Given the description of an element on the screen output the (x, y) to click on. 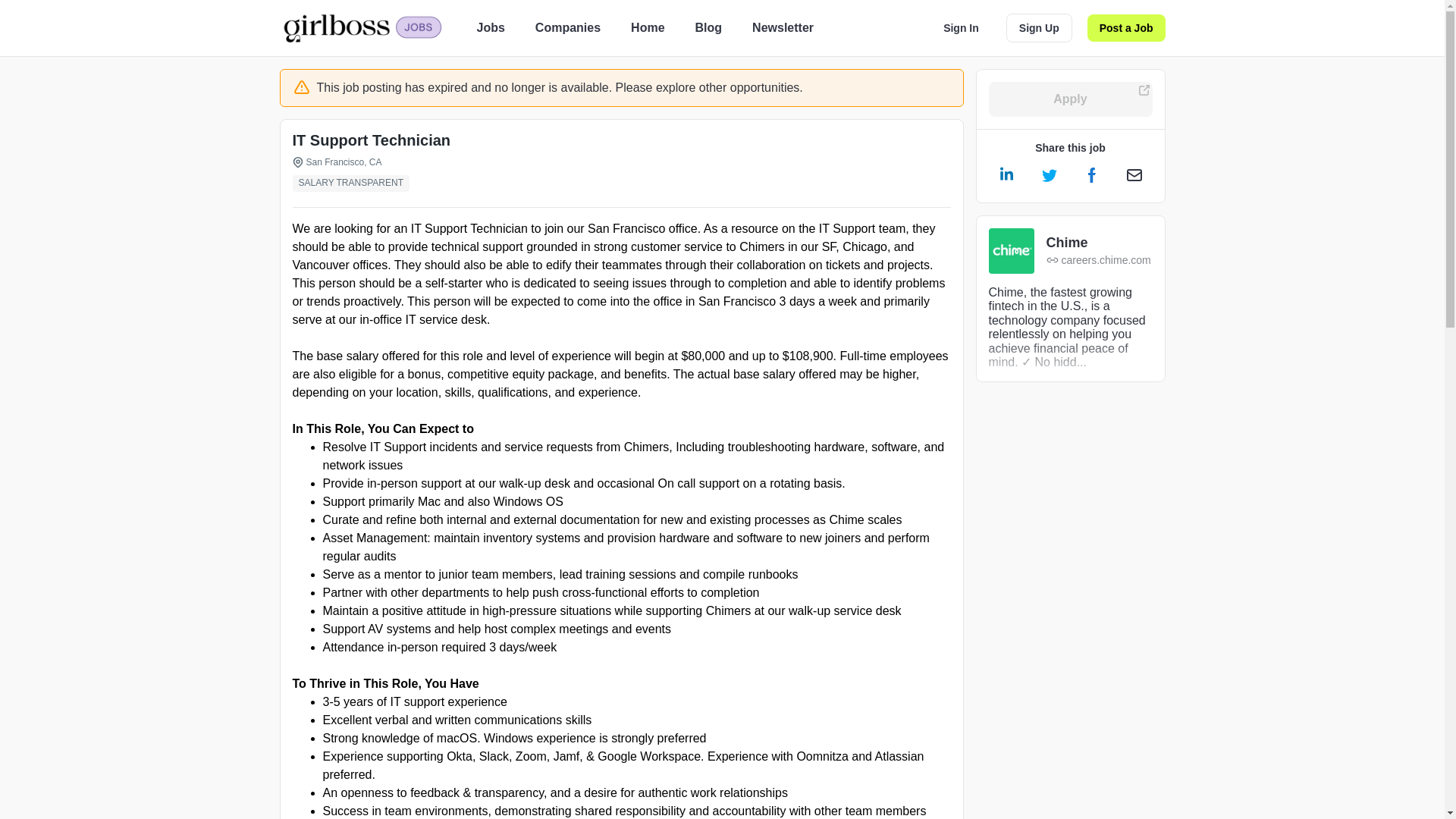
Jobs (489, 27)
careers.chime.com (1098, 259)
Companies (567, 27)
Sign Up (1038, 27)
Sign In (961, 27)
Chime (1098, 242)
Blog (708, 27)
Newsletter (782, 27)
SALARY TRANSPARENT (354, 182)
Home (646, 27)
Post a Job (1126, 27)
Apply (1070, 99)
